Given the description of an element on the screen output the (x, y) to click on. 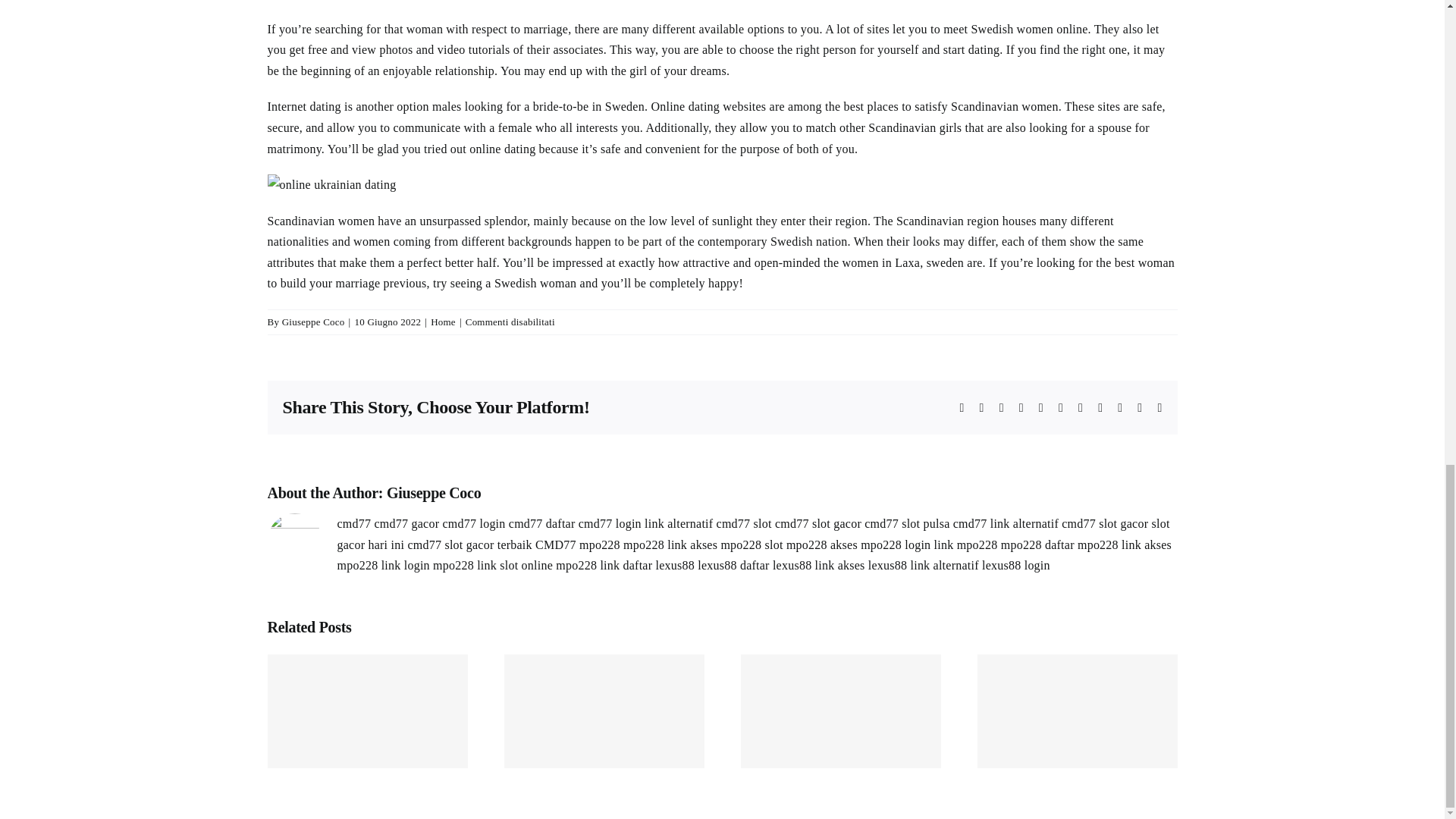
Home (442, 321)
Twitter (981, 408)
Tumblr (1080, 408)
Giuseppe Coco (433, 492)
Telegram (1060, 408)
Vk (1120, 408)
Facebook (961, 408)
LinkedIn (1021, 408)
Articoli scritti da Giuseppe Coco (313, 321)
Pinterest (1099, 408)
Xing (1139, 408)
Email (1159, 408)
Reddit (1001, 408)
WhatsApp (1041, 408)
Giuseppe Coco (313, 321)
